Given the description of an element on the screen output the (x, y) to click on. 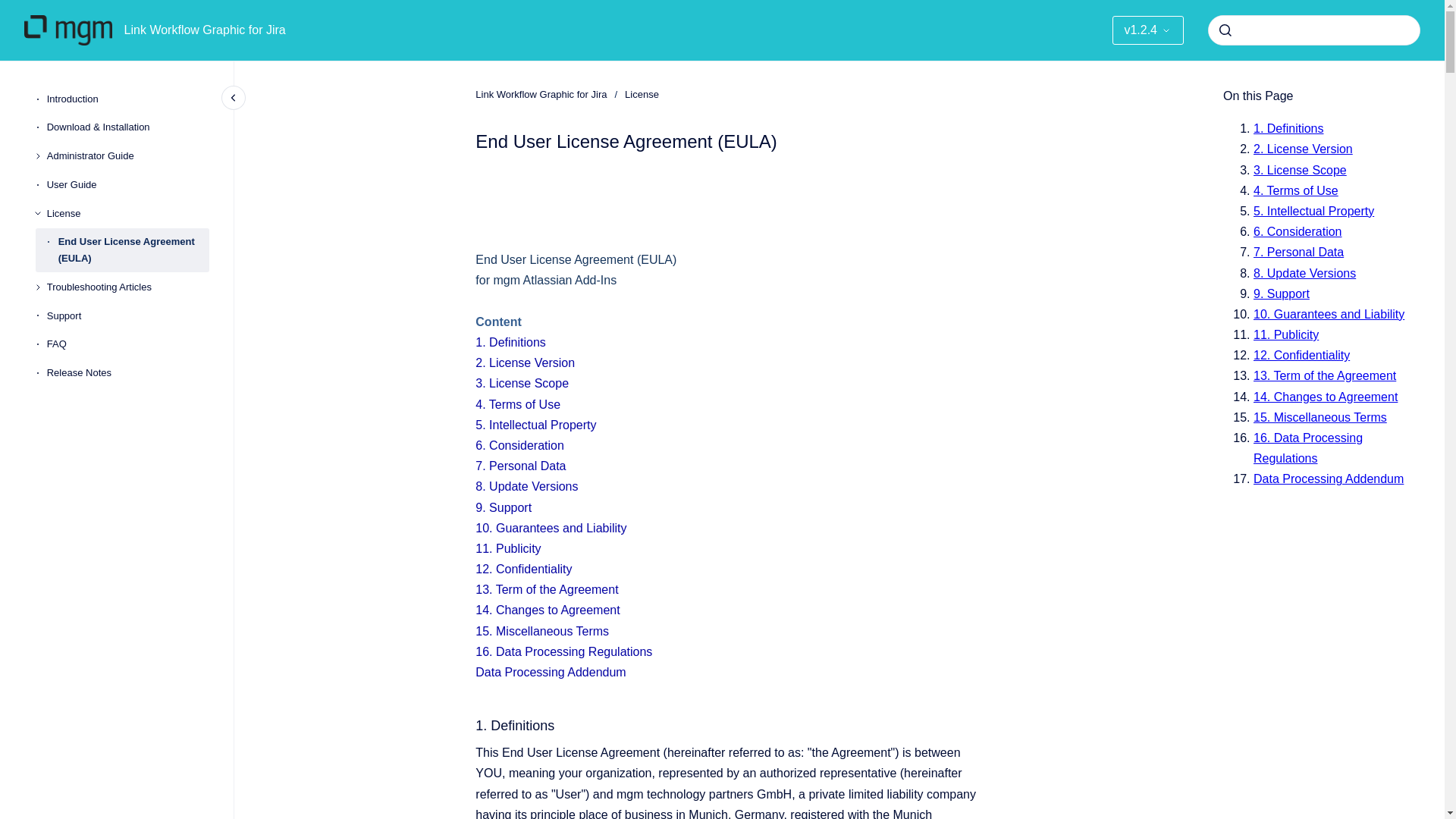
5. Intellectual Property (535, 424)
Release Notes (127, 372)
FAQ (127, 344)
3. License Scope (522, 382)
1. Definitions (511, 341)
7. Personal Data (521, 465)
User Guide (127, 185)
9. Support (503, 506)
11. Publicity (508, 548)
v1.2.4 (1147, 30)
Link Workflow Graphic for Jira (541, 94)
4. Terms of Use (518, 404)
13. Term of the Agreement (546, 589)
Link Workflow Graphic for Jira (204, 29)
